Given the description of an element on the screen output the (x, y) to click on. 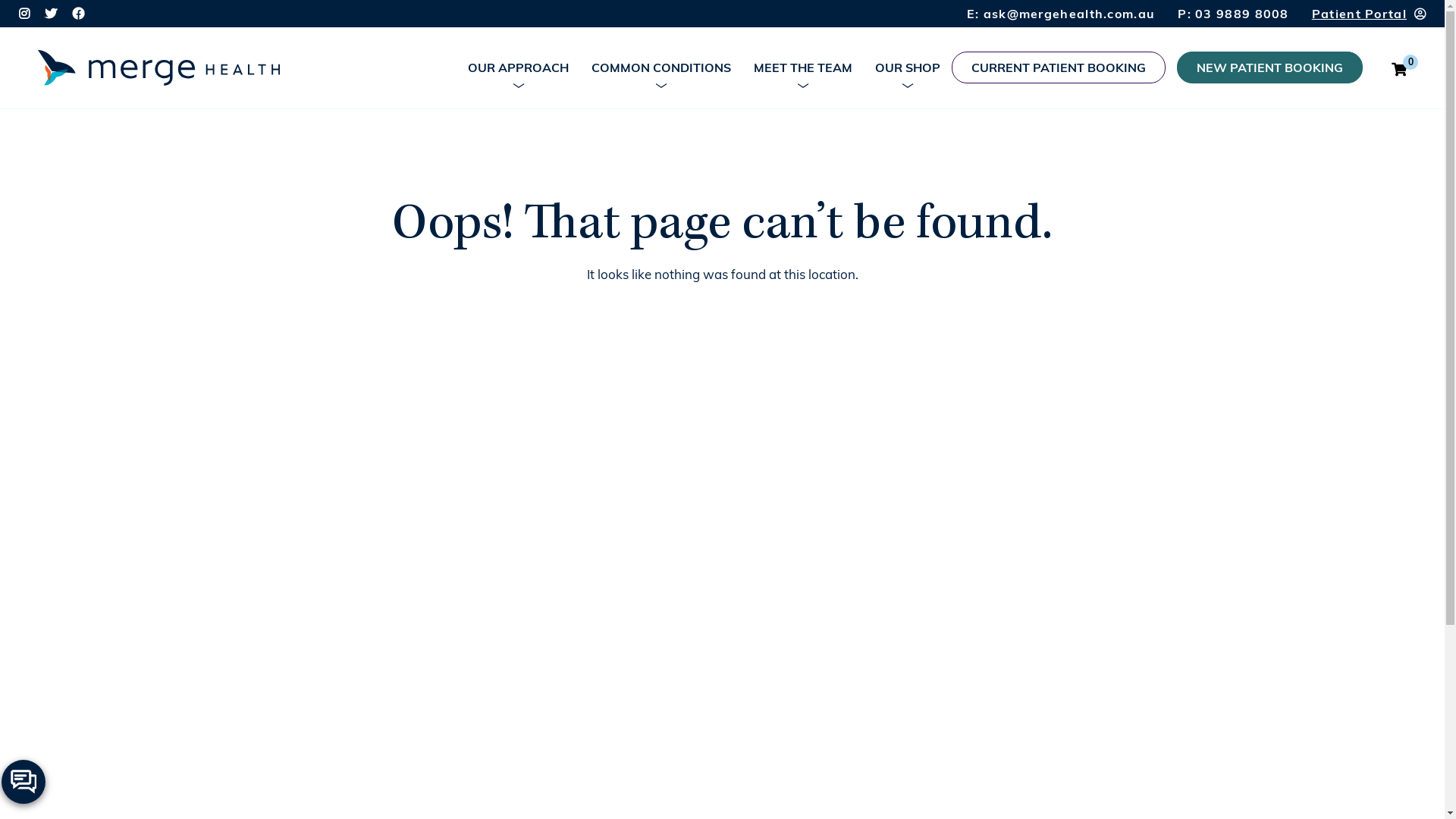
0 Element type: text (1398, 68)
COMMON CONDITIONS Element type: text (661, 67)
OUR SHOP Element type: text (907, 67)
MEET THE TEAM Element type: text (802, 67)
NEW PATIENT BOOKING Element type: text (1269, 67)
P: 03 9889 8008 Element type: text (1233, 13)
E: ask@mergehealth.com.au Element type: text (1060, 13)
Patient Portal Element type: text (1366, 13)
OUR APPROACH Element type: text (517, 67)
CURRENT PATIENT BOOKING Element type: text (1058, 67)
